Given the description of an element on the screen output the (x, y) to click on. 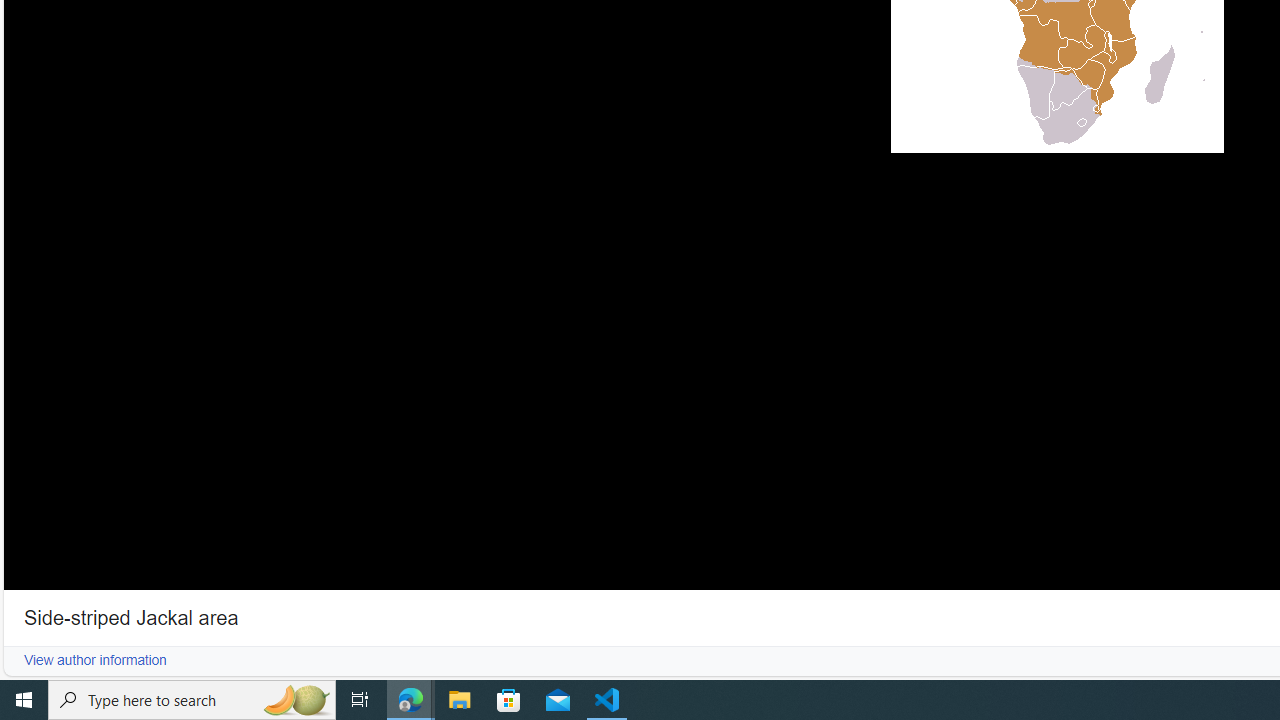
View author information (95, 660)
